Given the description of an element on the screen output the (x, y) to click on. 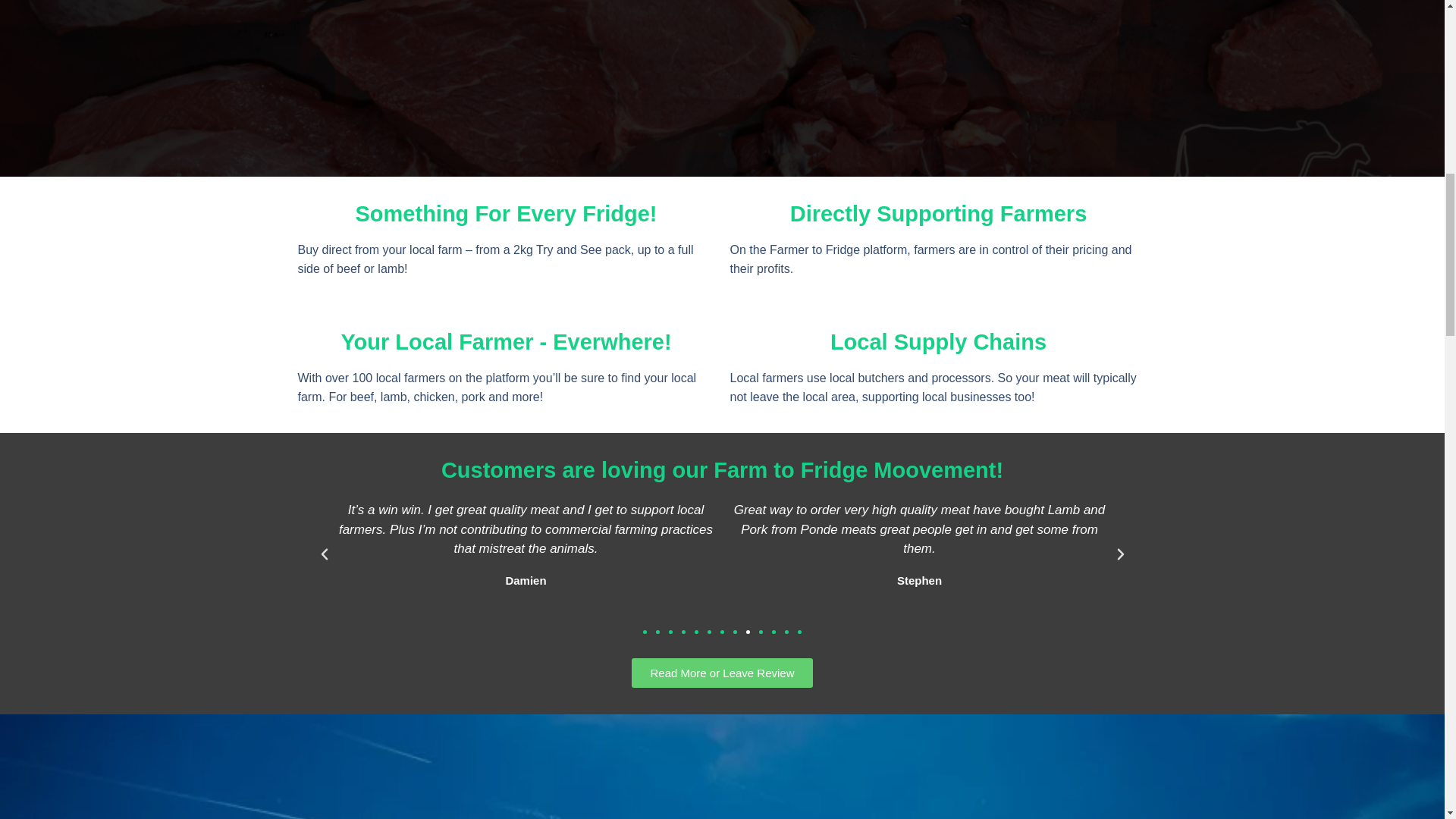
Read More or Leave Review (721, 672)
